Given the description of an element on the screen output the (x, y) to click on. 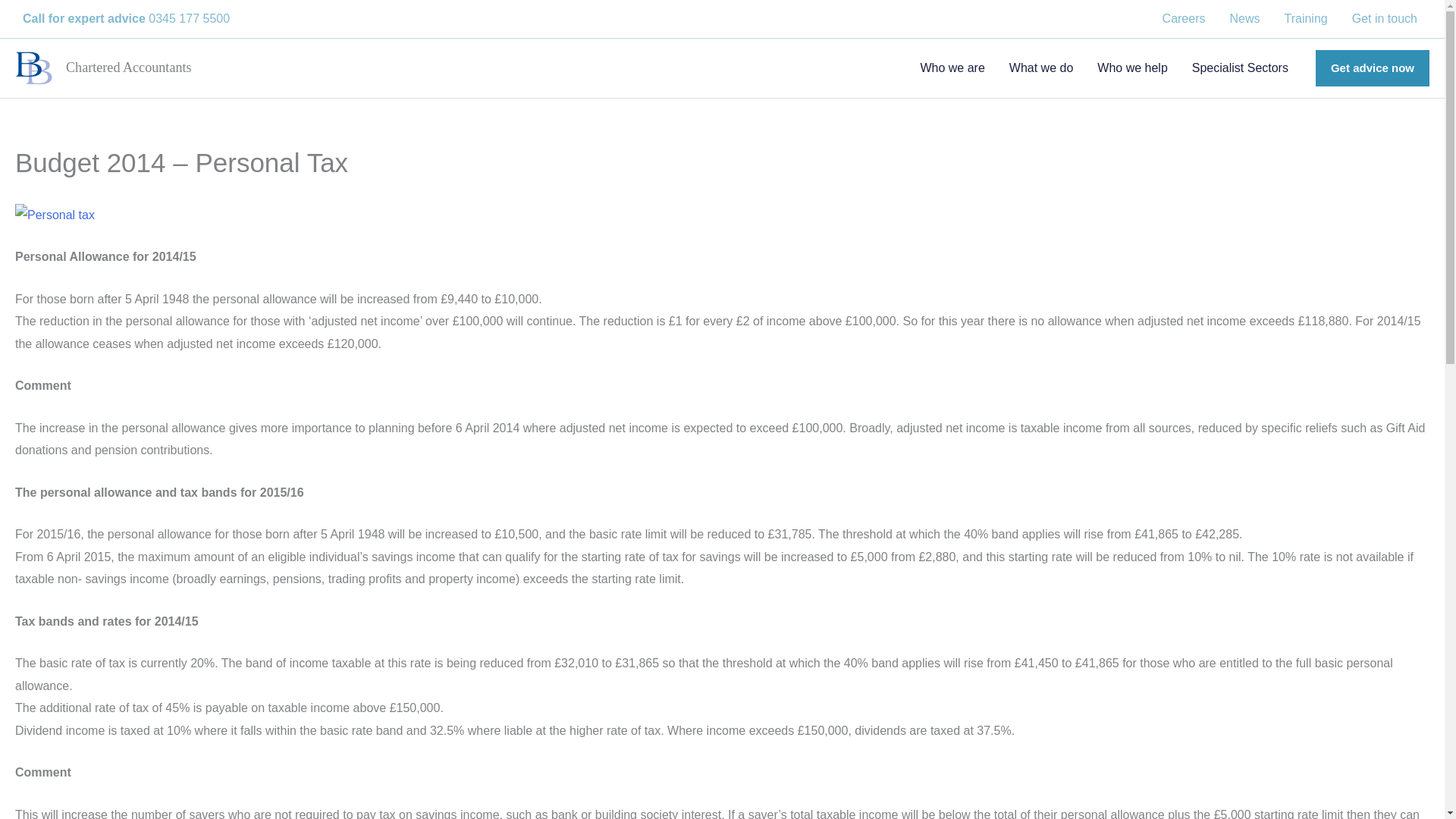
Who we are (951, 68)
Get in touch (1384, 18)
Specialist Sectors (1239, 68)
Careers (1183, 18)
Who we help (1131, 68)
Get advice now (1372, 67)
Training (1305, 18)
What we do (1040, 68)
News (1244, 18)
